Given the description of an element on the screen output the (x, y) to click on. 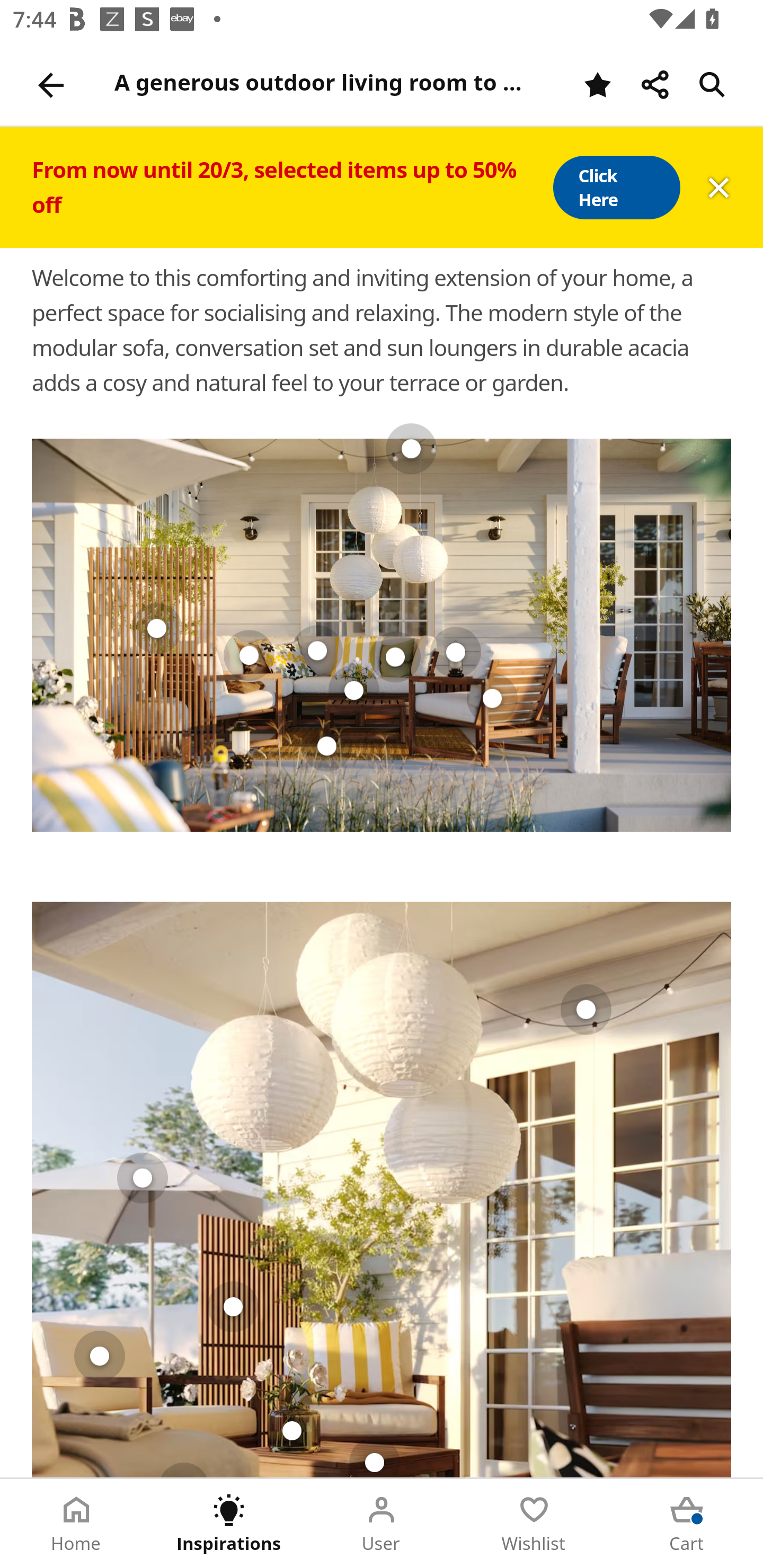
Click Here (615, 187)
Home
Tab 1 of 5 (76, 1522)
Inspirations
Tab 2 of 5 (228, 1522)
User
Tab 3 of 5 (381, 1522)
Wishlist
Tab 4 of 5 (533, 1522)
Cart
Tab 5 of 5 (686, 1522)
